Given the description of an element on the screen output the (x, y) to click on. 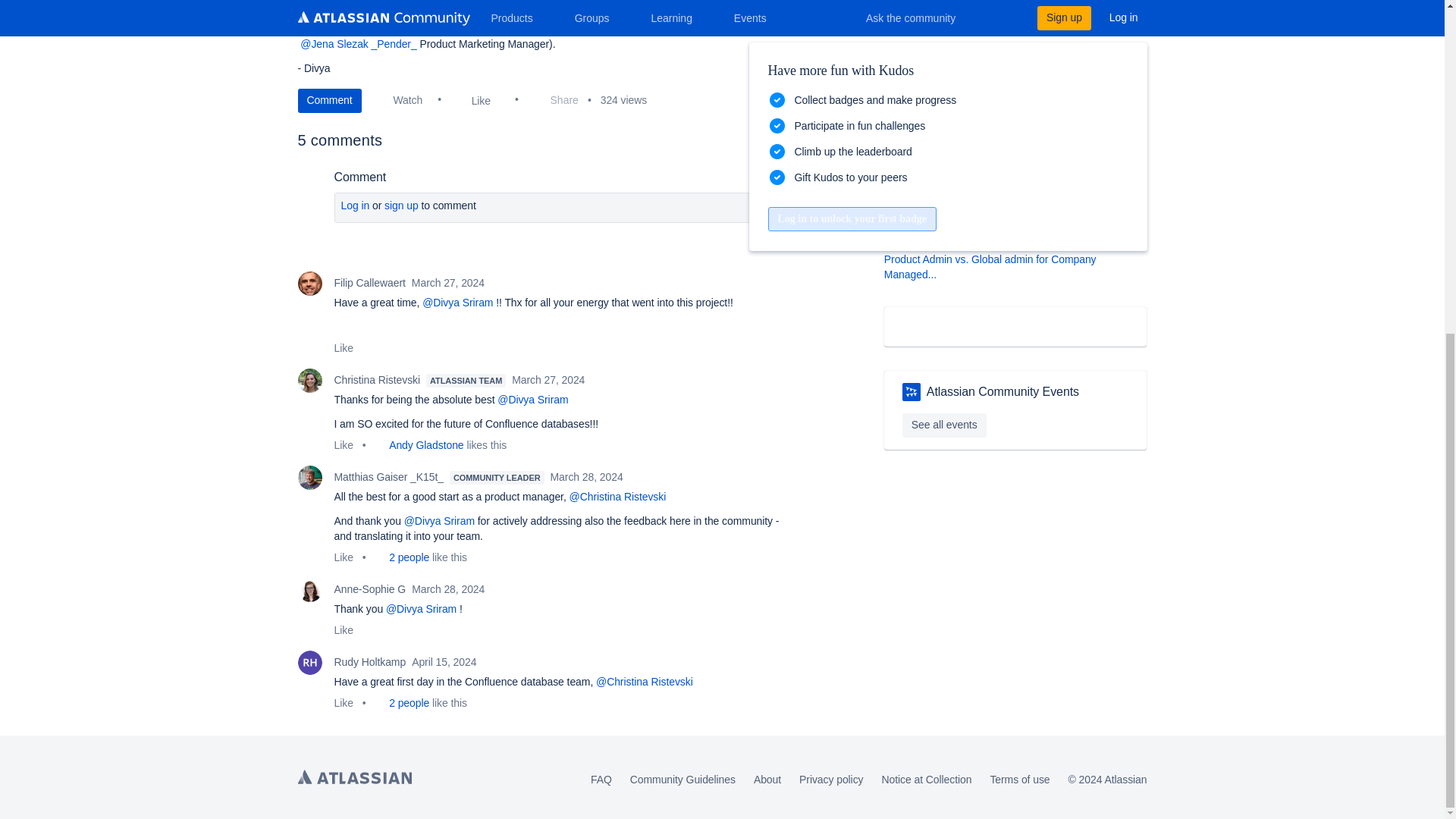
Rudy Holtkamp (309, 662)
groups-icon (895, 56)
Christina Ristevski (309, 380)
AUG Leaders (911, 392)
Anne-Sophie G (309, 589)
Filip Callewaert (309, 283)
